Given the description of an element on the screen output the (x, y) to click on. 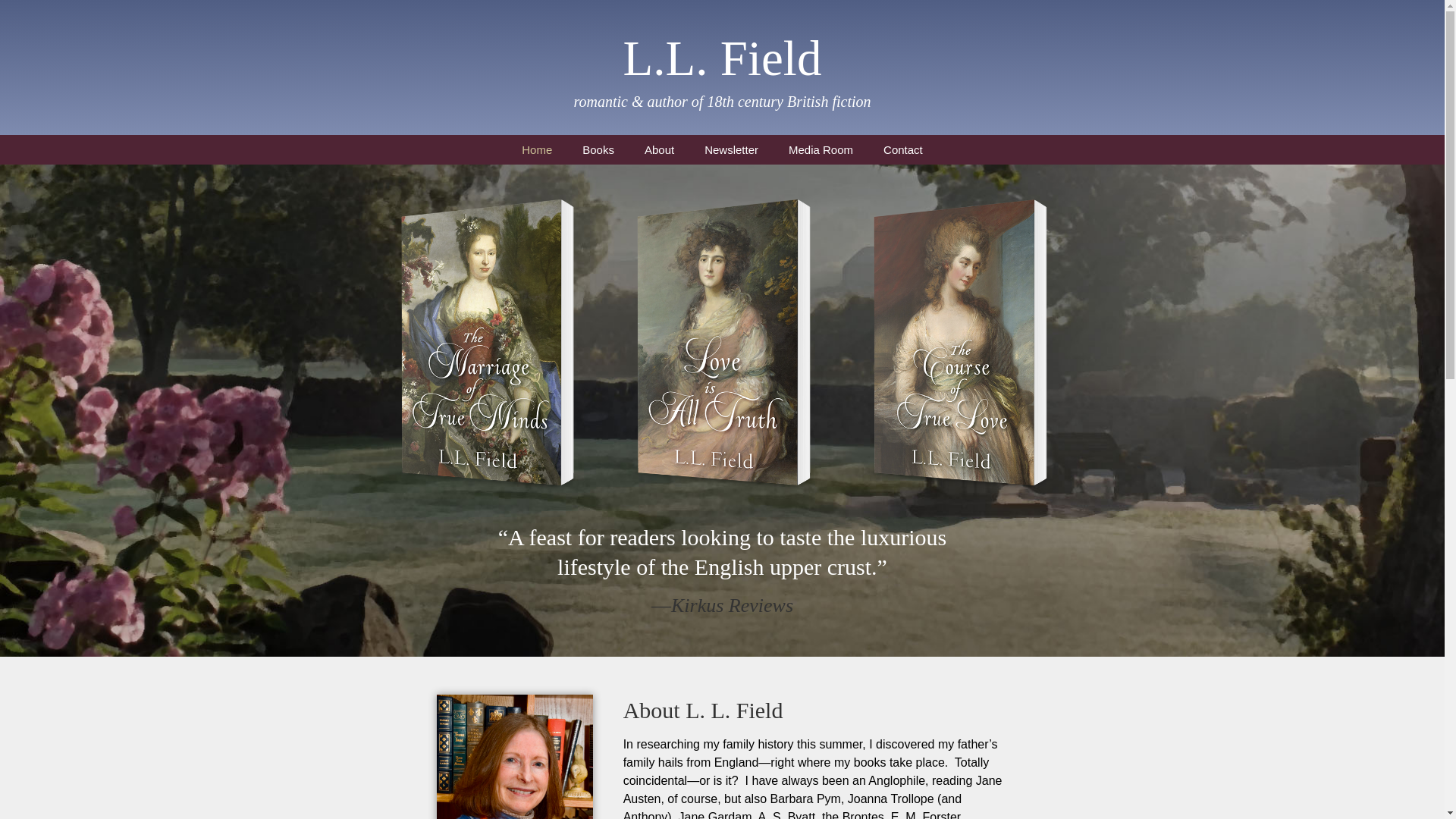
Newsletter (730, 149)
Books (597, 149)
Contact (902, 149)
L.L. Field (722, 58)
L.L. Field (722, 58)
Home (536, 149)
LL Field author photo (514, 756)
About (658, 149)
Media Room (820, 149)
